Given the description of an element on the screen output the (x, y) to click on. 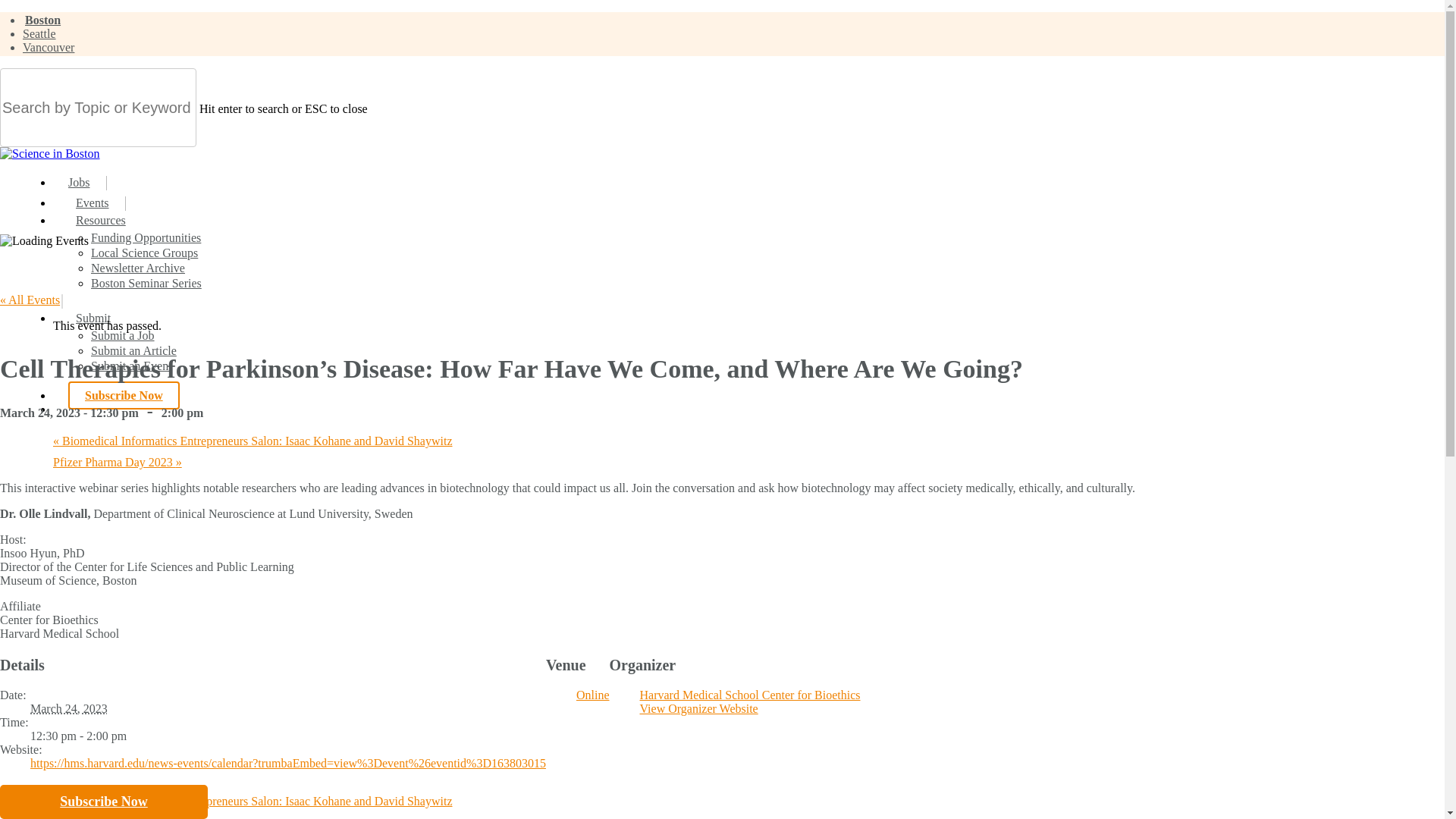
Newsletter Archive (137, 267)
View Organizer Website (699, 707)
Harvard Medical School Center for Bioethics (750, 694)
Submit an Article (133, 350)
Submit an Event (130, 365)
Events (92, 202)
Boston Seminar Series (146, 282)
Online (593, 694)
Resources (101, 219)
Jobs (78, 182)
Seattle (39, 33)
2023-03-24 (288, 735)
Local Science Groups (144, 252)
2023-03-24 (68, 707)
Subscribe Now (123, 395)
